Given the description of an element on the screen output the (x, y) to click on. 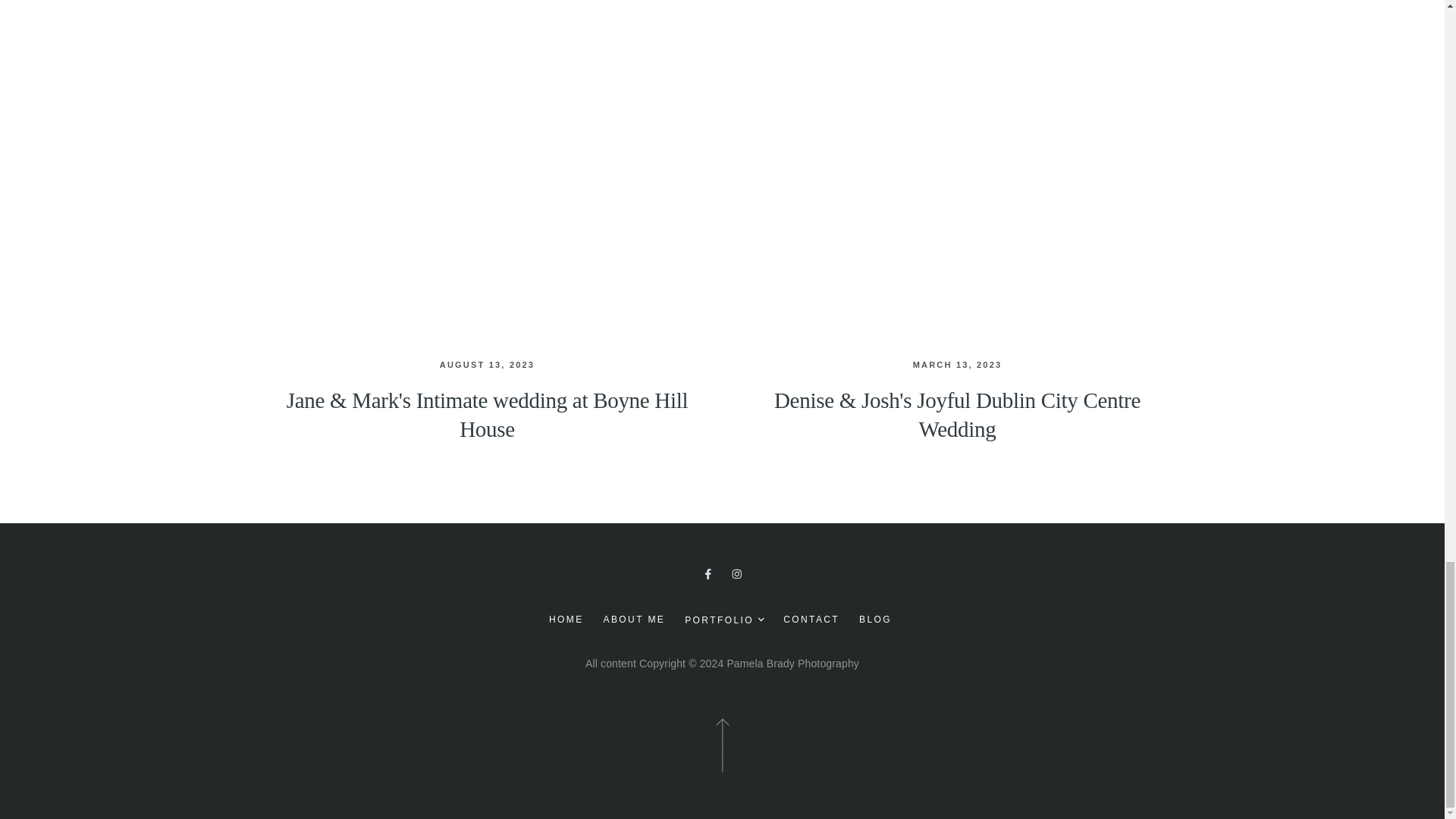
BLOG (875, 619)
ABOUT ME (633, 619)
CONTACT (811, 619)
PORTFOLIO (724, 619)
HOME (566, 619)
